Given the description of an element on the screen output the (x, y) to click on. 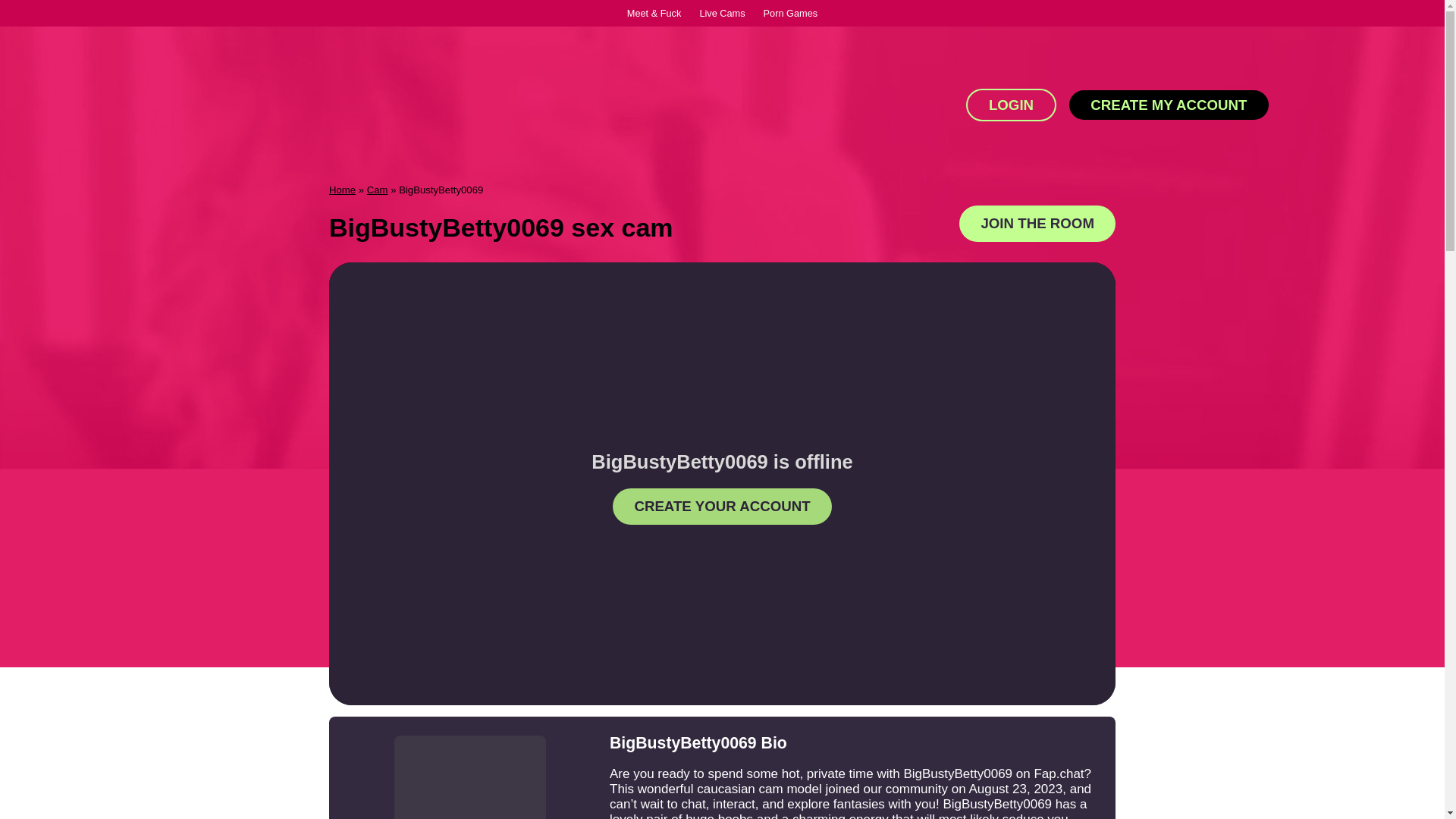
Home (342, 189)
CREATE MY ACCOUNT (1168, 105)
JOIN THE ROOM (1037, 223)
Porn Games (790, 12)
CREATE YOUR ACCOUNT (721, 506)
LOGIN (1011, 105)
Cam (377, 189)
Live Cams (722, 12)
